Given the description of an element on the screen output the (x, y) to click on. 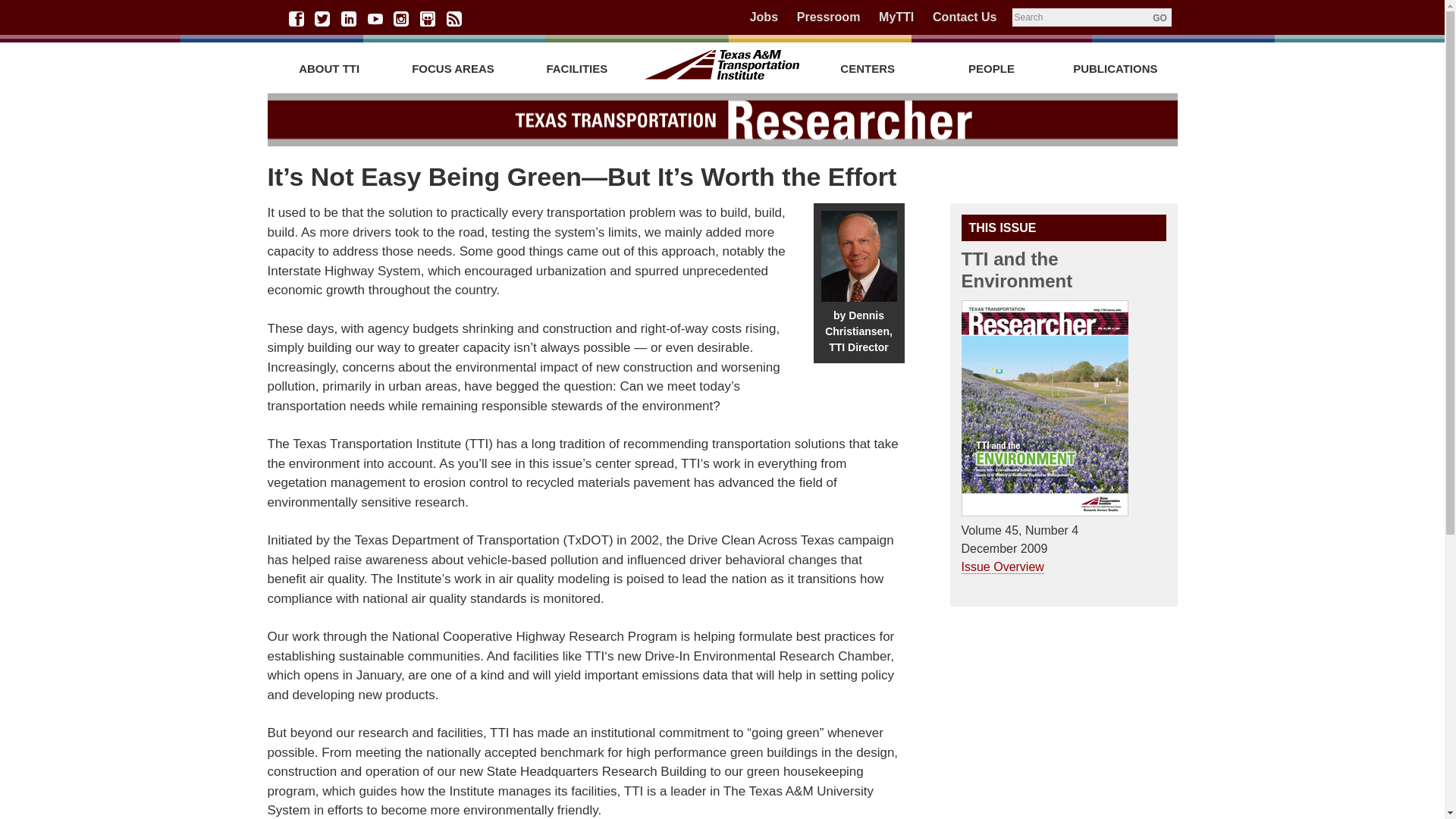
RSS (453, 18)
GO (1159, 17)
FACILITIES (577, 68)
YouTube (375, 18)
Facebook (295, 18)
TTI YouTube (375, 18)
Jobs (763, 16)
Instagram (401, 18)
TTI SlideShare (427, 18)
MyTTI (896, 16)
TTI Instagram (401, 18)
GO (1159, 17)
SlideShare (427, 18)
Contact Us (964, 16)
TTI Facebook (295, 18)
